Given the description of an element on the screen output the (x, y) to click on. 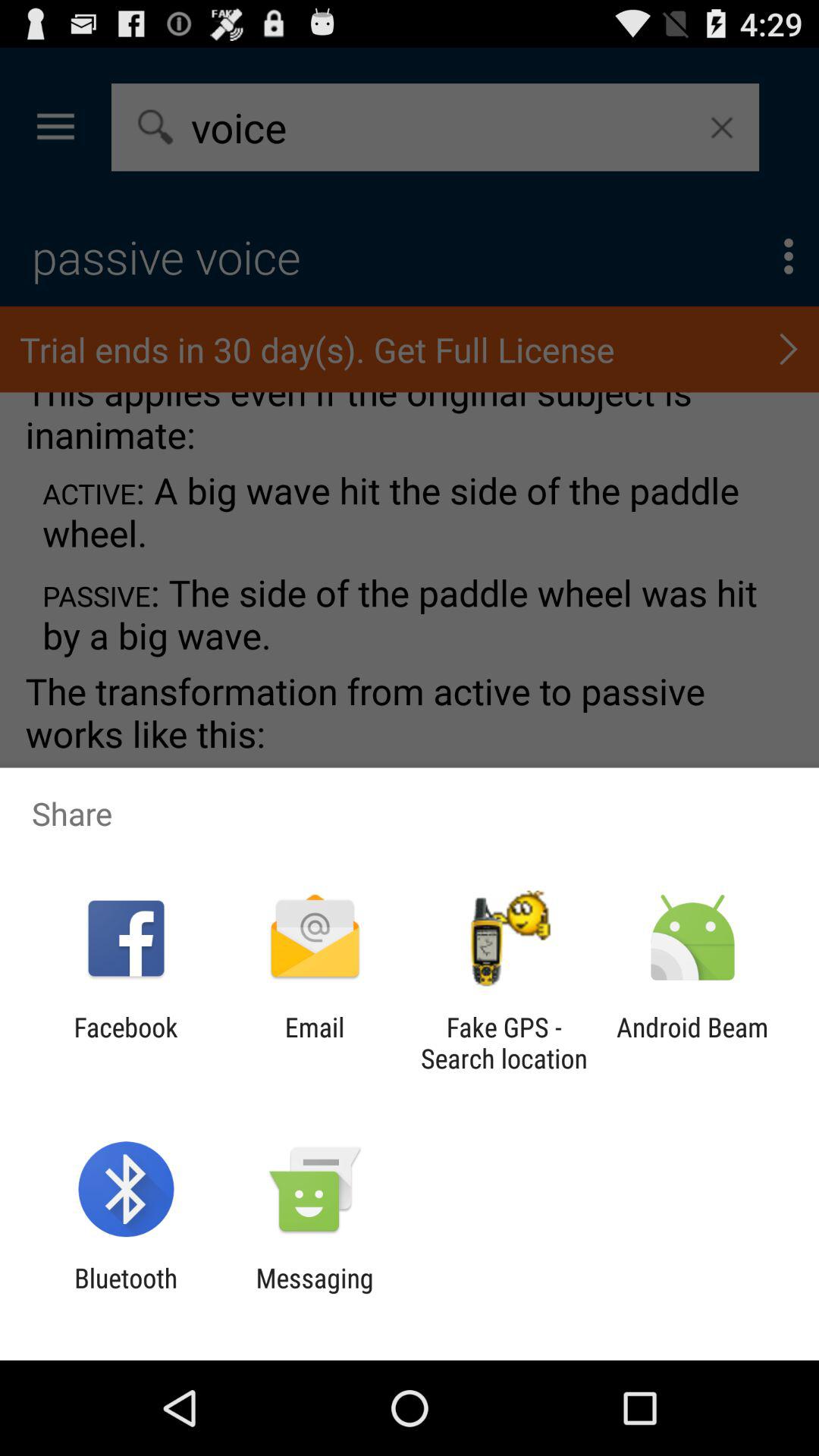
select bluetooth icon (125, 1293)
